Given the description of an element on the screen output the (x, y) to click on. 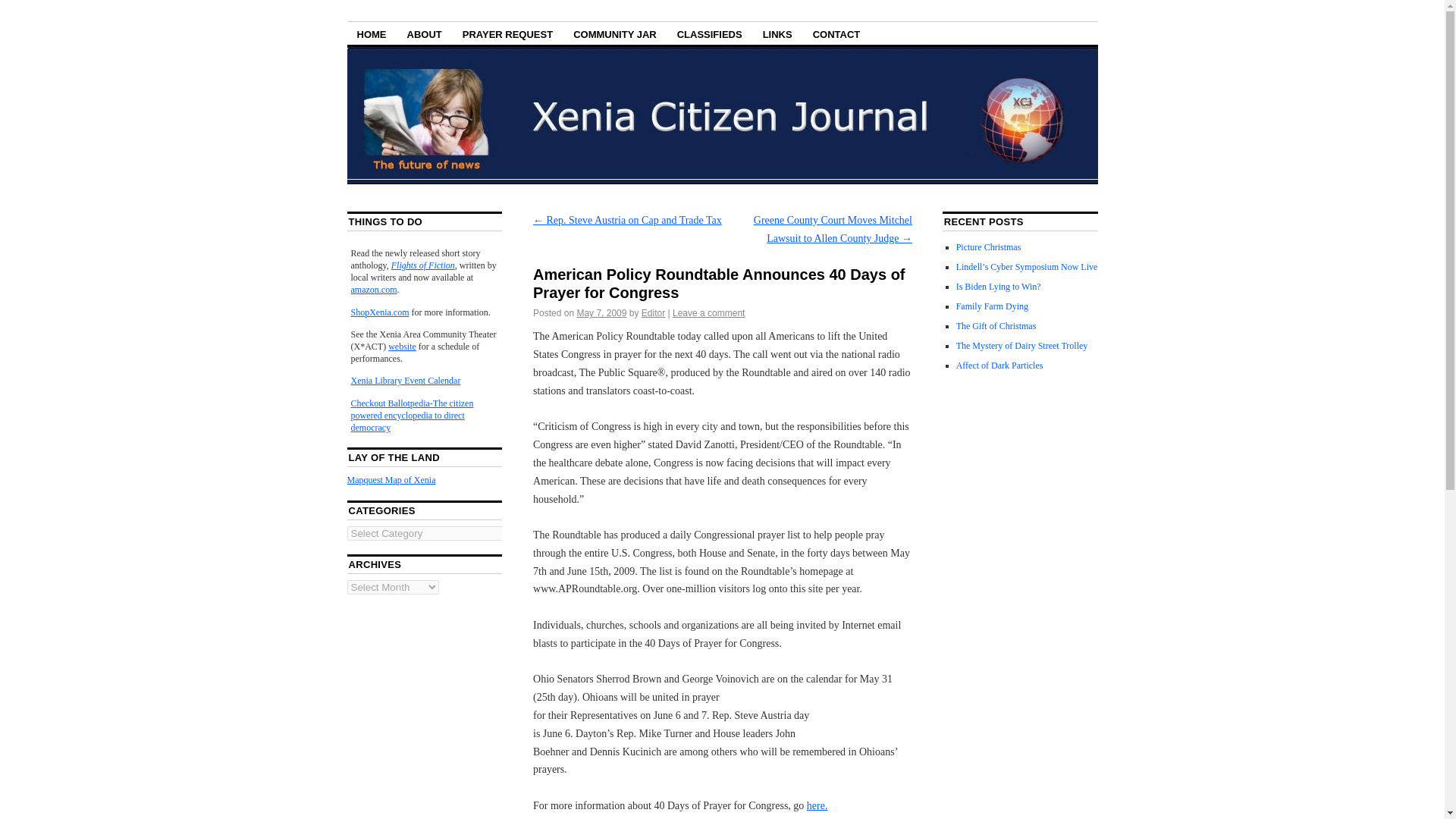
8:58 pm (601, 312)
LINKS (777, 33)
May 7, 2009 (601, 312)
COMMUNITY JAR (614, 33)
View all posts by Editor (653, 312)
CLASSIFIEDS (709, 33)
HOME (371, 33)
ABOUT (424, 33)
Editor (653, 312)
PRAYER REQUEST (507, 33)
Leave a comment (708, 312)
CONTACT (836, 33)
